Given the description of an element on the screen output the (x, y) to click on. 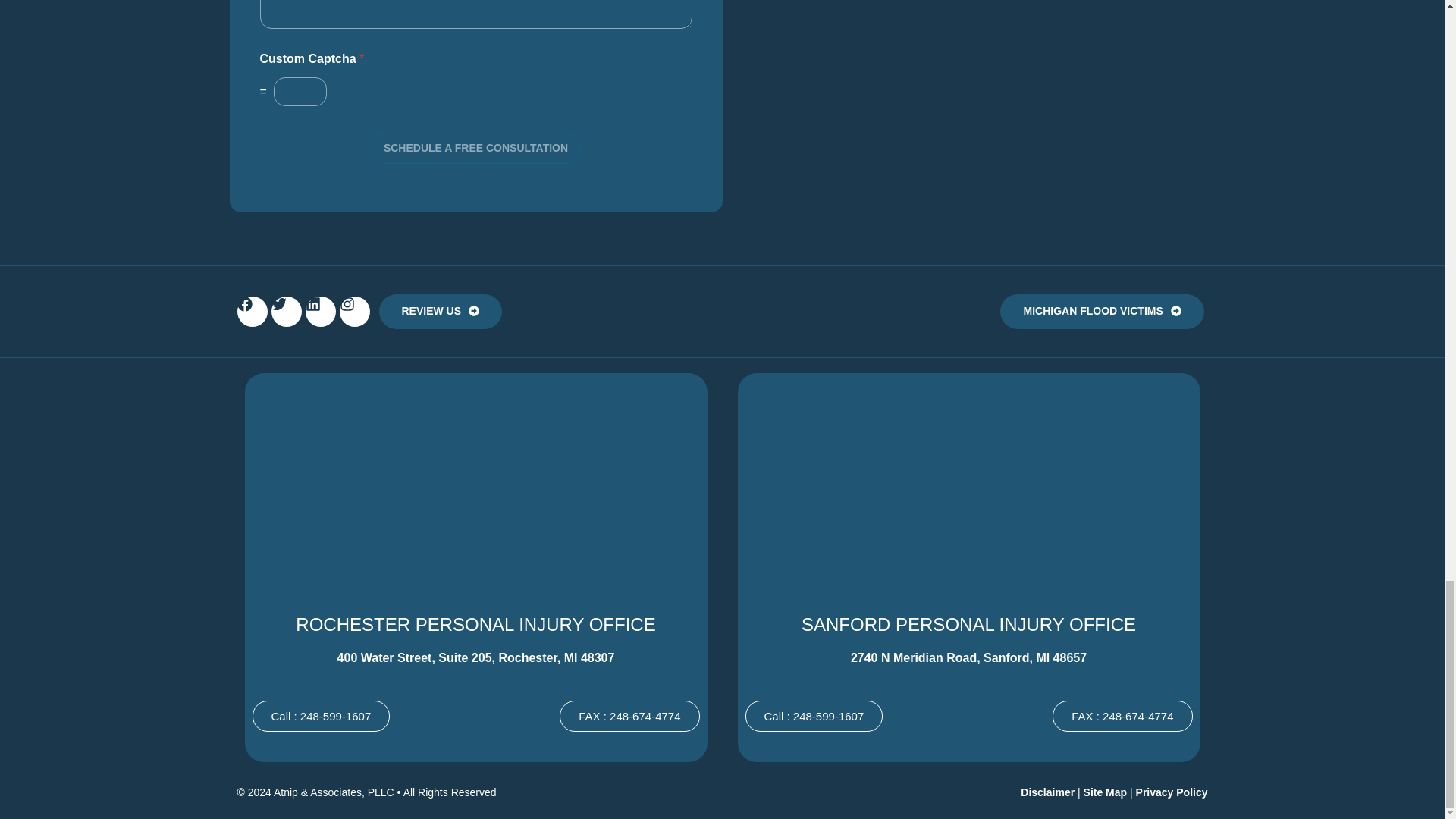
400 Water Street Suite 205 Rochester, MI 48307 (475, 486)
2740 N Meridian Road Sanford, MI 48657 (967, 486)
